Given the description of an element on the screen output the (x, y) to click on. 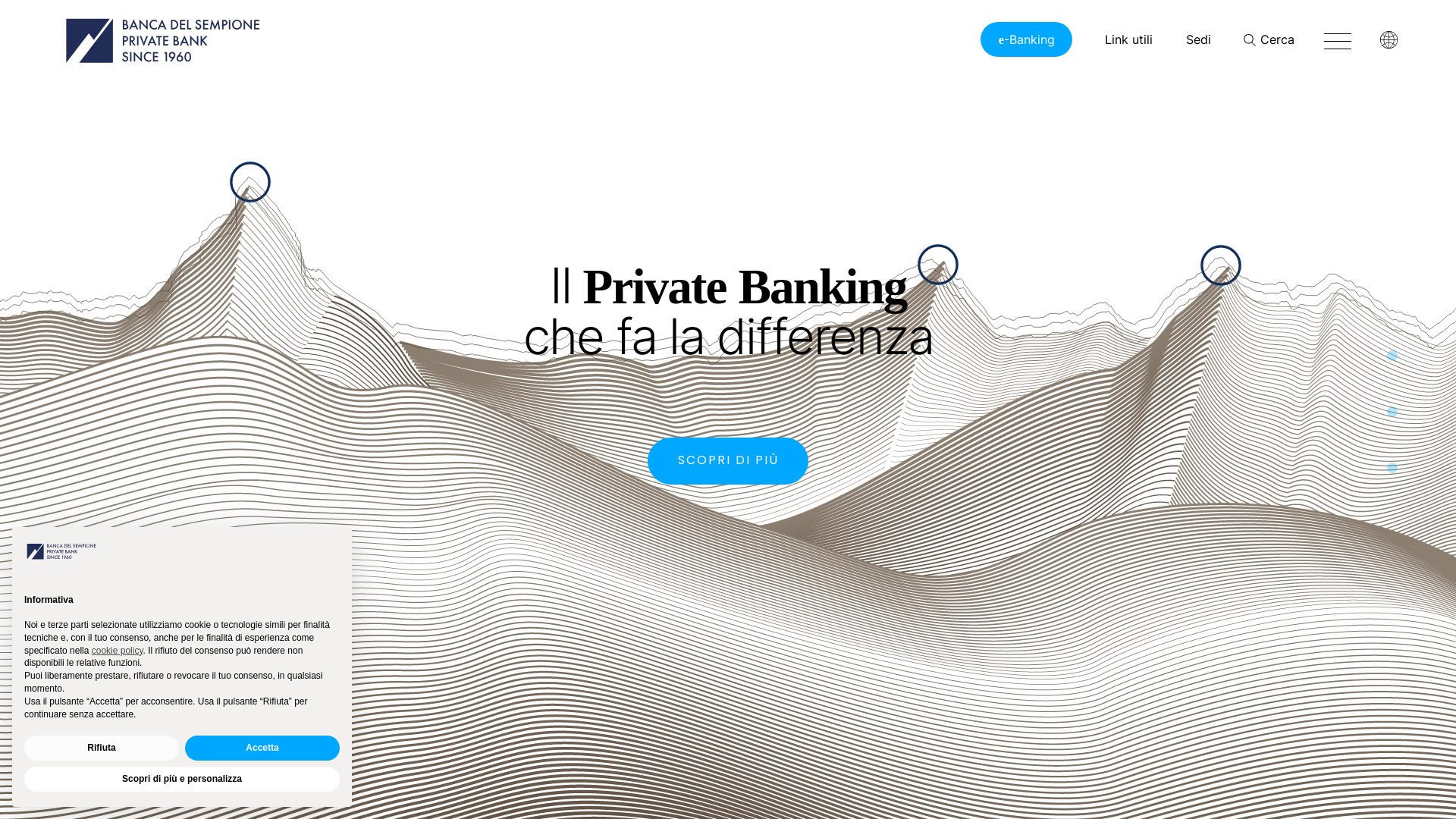
Accetta Element type: text (262, 747)
Cerca Element type: text (1268, 39)
cookie policy Element type: text (117, 650)
Rifiuta Element type: text (101, 747)
e-Banking Element type: text (1026, 38)
Sedi Element type: text (1198, 39)
Link utili Element type: text (1128, 39)
